Given the description of an element on the screen output the (x, y) to click on. 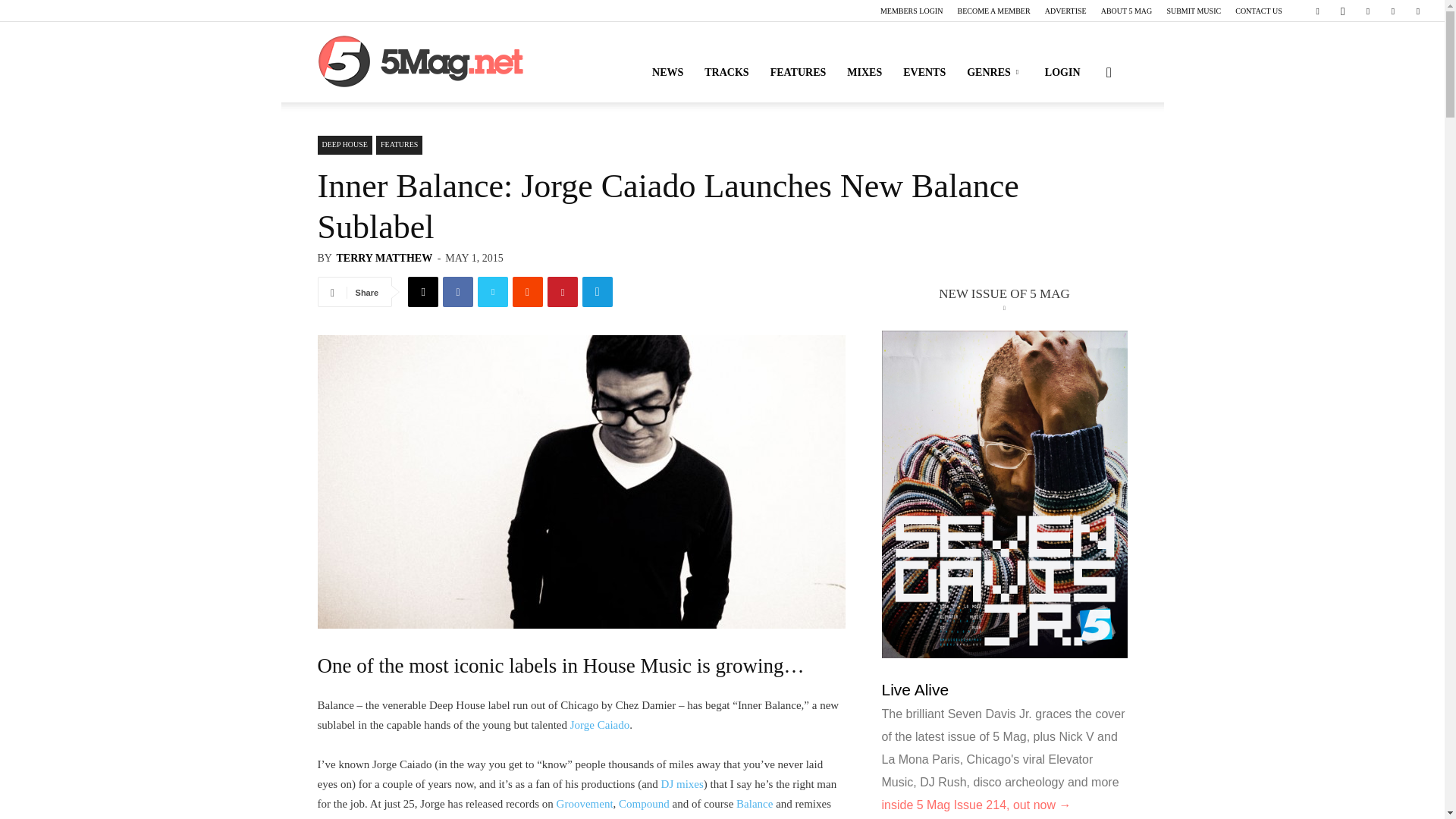
Twitter (1417, 10)
Instagram (1343, 10)
Facebook (1317, 10)
Become A Member (992, 10)
Advertise with 5 Magazine (1065, 10)
ABOUT 5 MAG (1126, 10)
CONTACT US (1258, 10)
Music Submission Guidelines (1193, 10)
BECOME A MEMBER (992, 10)
ADVERTISE (1065, 10)
MEMBERS LOGIN (911, 10)
Search (1085, 144)
SUBMIT MUSIC (1193, 10)
RSS (1367, 10)
Members Login (911, 10)
